Given the description of an element on the screen output the (x, y) to click on. 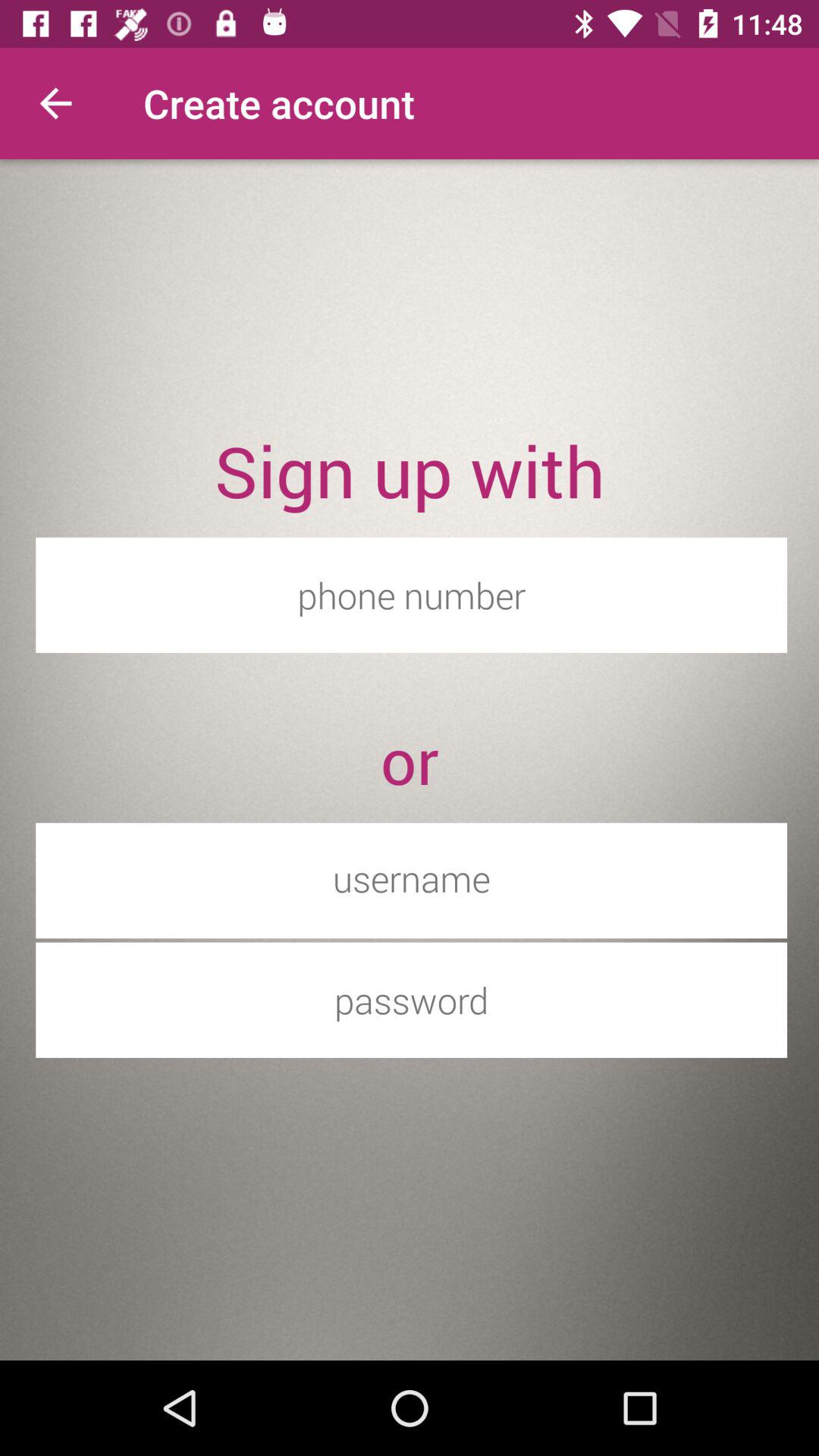
password (411, 999)
